Given the description of an element on the screen output the (x, y) to click on. 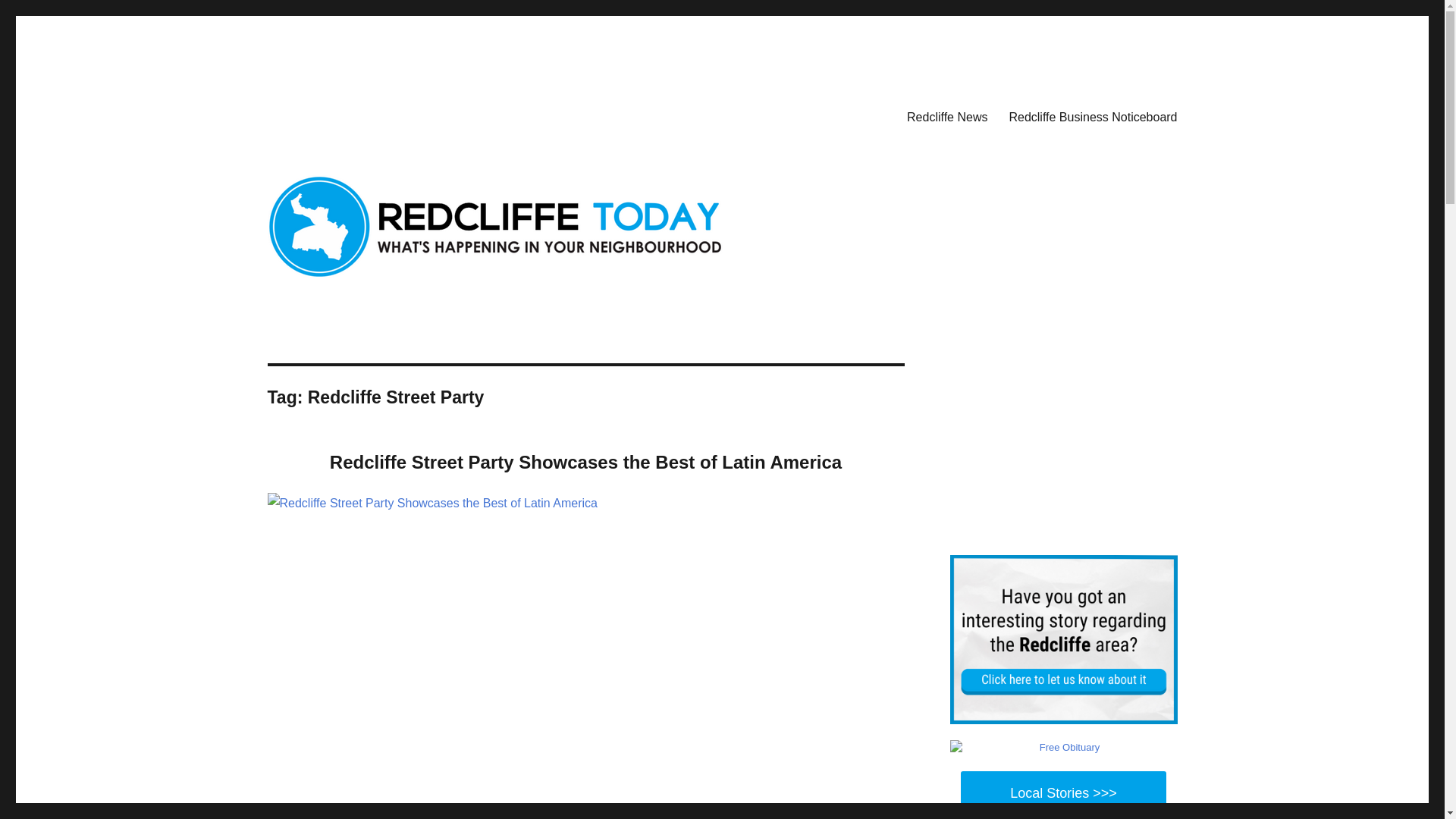
Redcliffe News (946, 116)
Redcliffe Business Noticeboard (1092, 116)
Redcliffe Today (344, 114)
Redcliffe Street Party Showcases the Best of Latin America (585, 462)
